Given the description of an element on the screen output the (x, y) to click on. 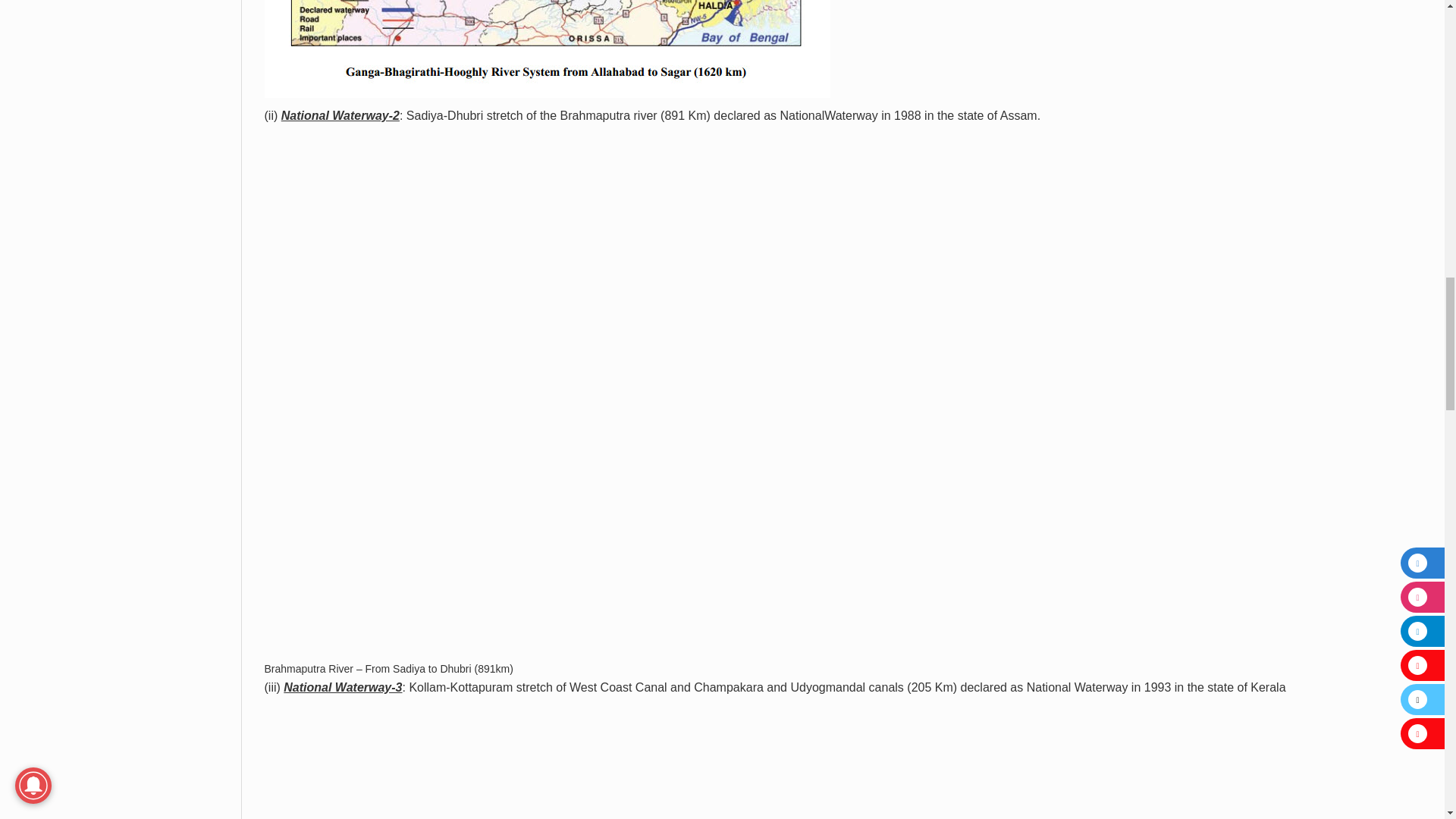
National Waterway - 1 (546, 48)
National Waterway of India -3 (399, 762)
